Given the description of an element on the screen output the (x, y) to click on. 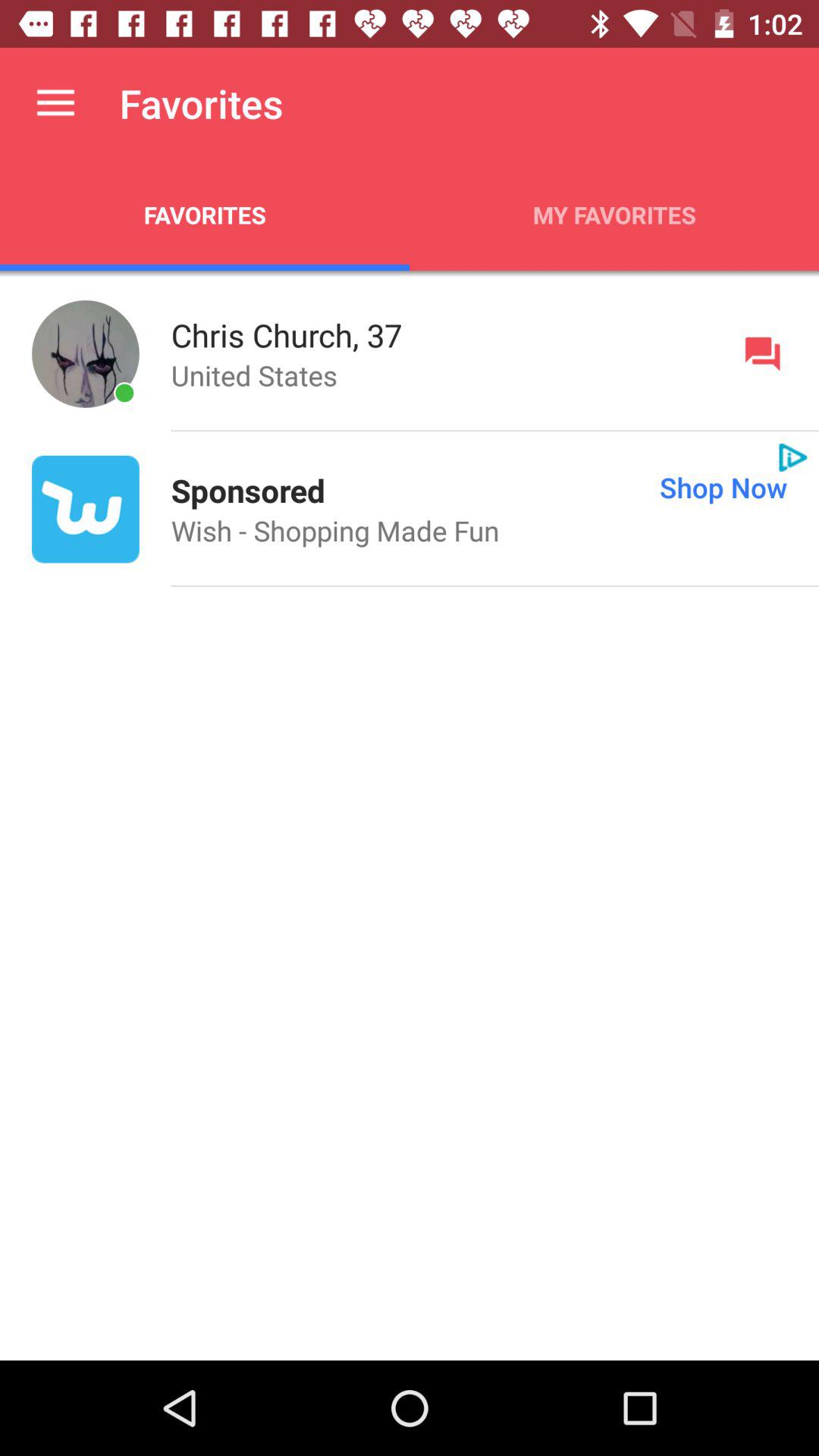
launch the icon to the left of sponsored icon (85, 509)
